Given the description of an element on the screen output the (x, y) to click on. 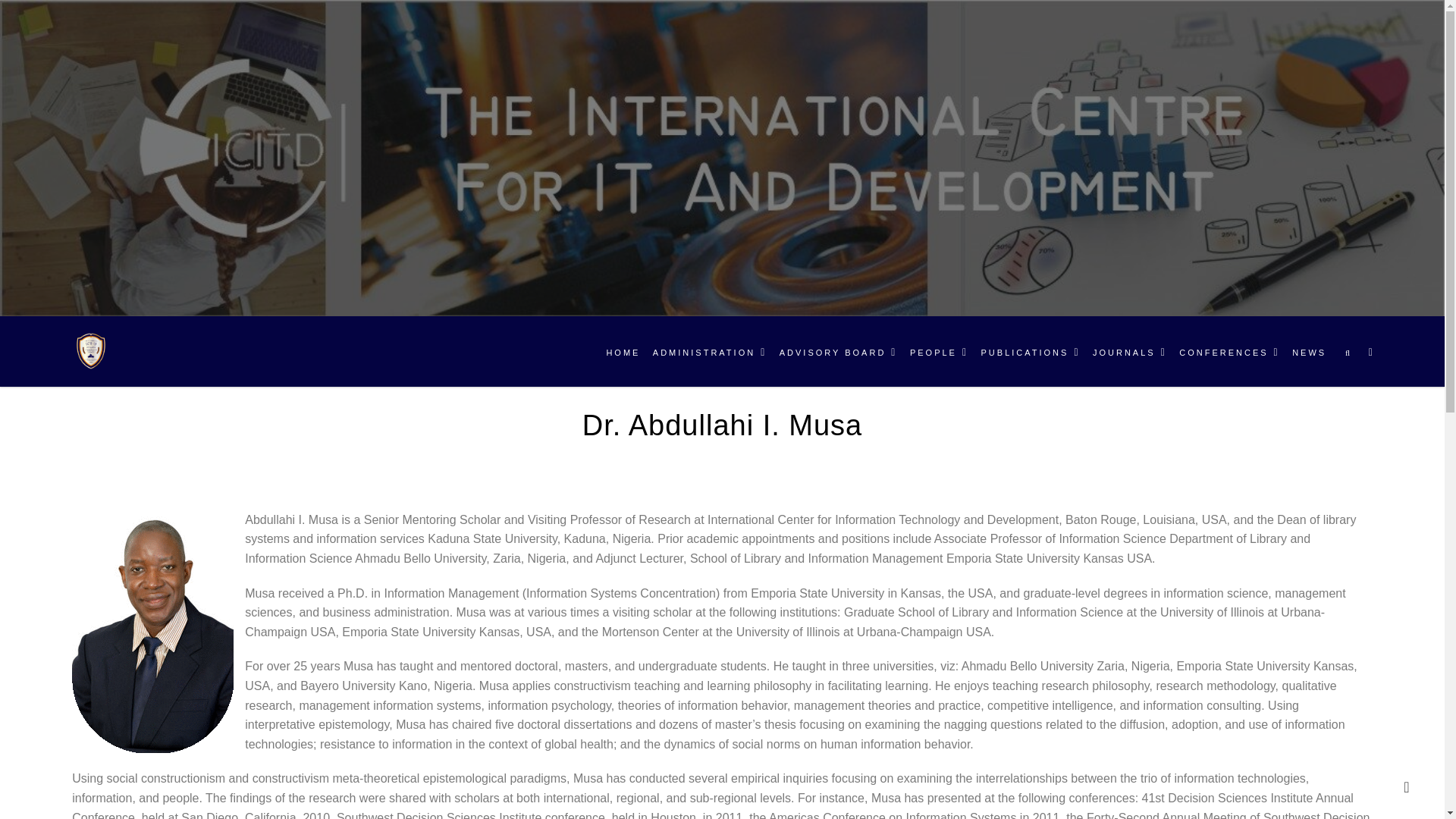
PUBLICATIONS (1030, 352)
ADVISORY BOARD (838, 352)
ADMINISTRATION (709, 352)
HOME (623, 352)
PEOPLE (938, 352)
Go to Top (1406, 788)
